Given the description of an element on the screen output the (x, y) to click on. 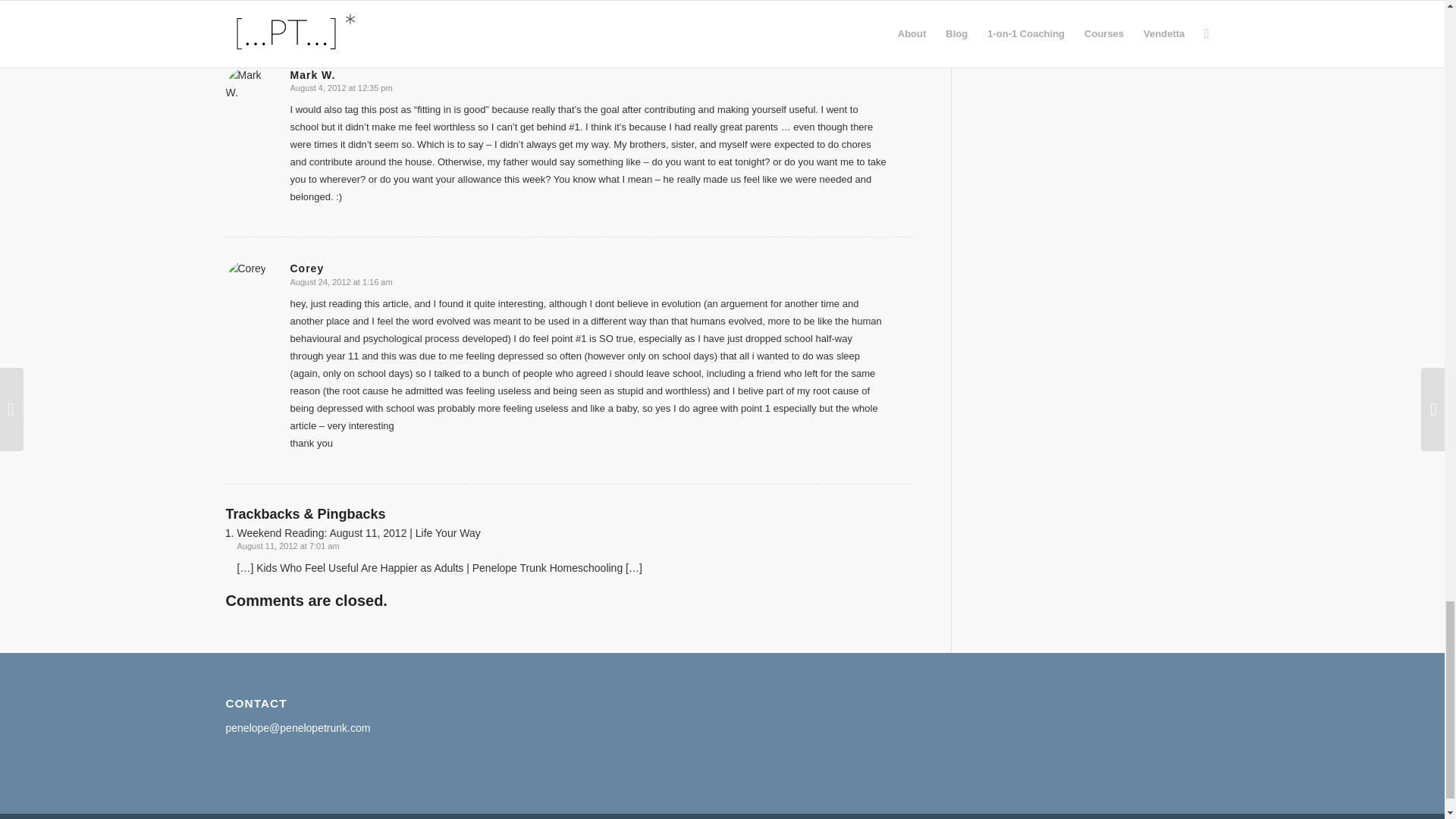
August 11, 2012 at 7:01 am (287, 545)
August 4, 2012 at 12:35 pm (340, 87)
August 24, 2012 at 1:16 am (340, 281)
